Given the description of an element on the screen output the (x, y) to click on. 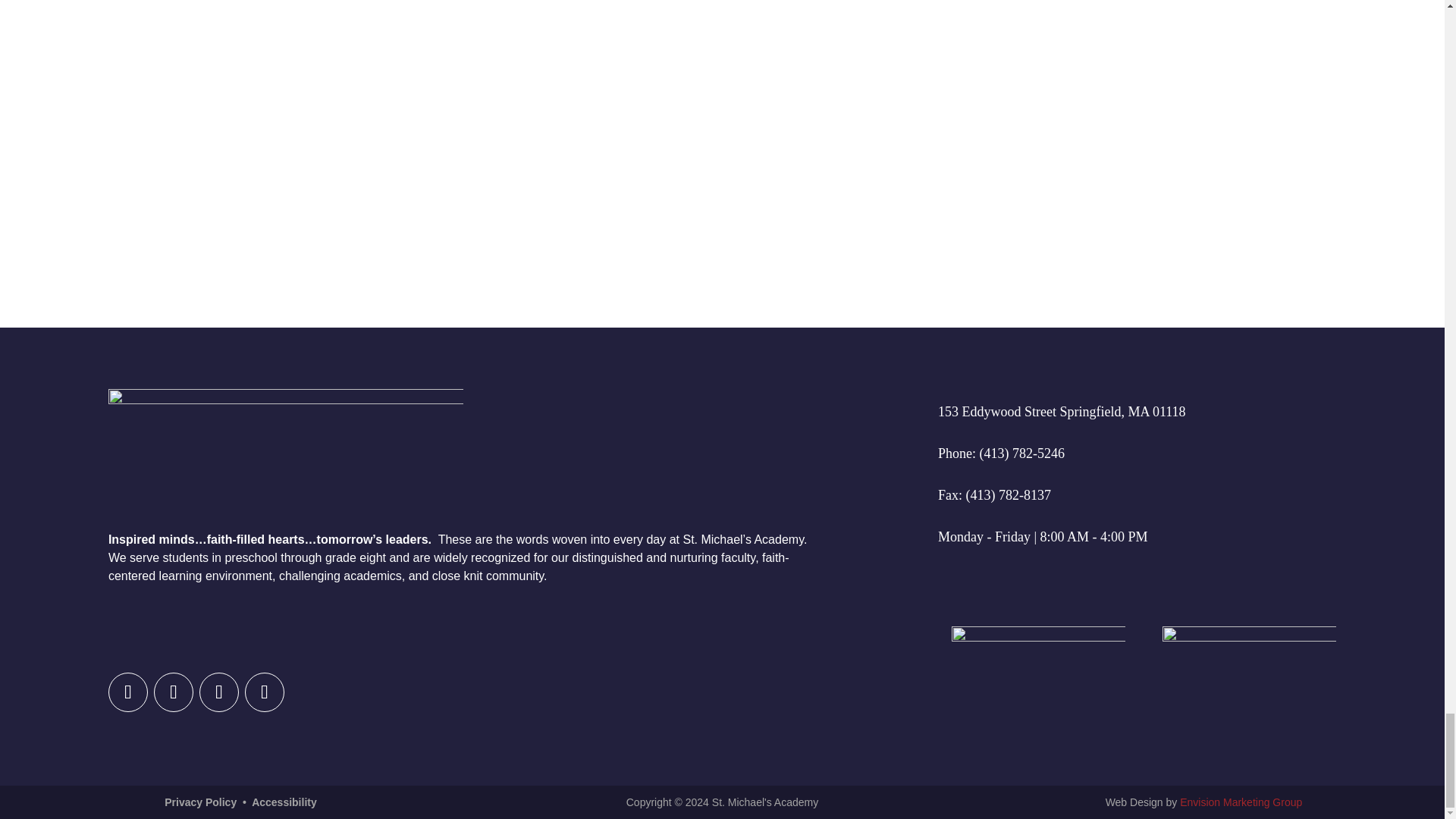
Follow on LinkedIn (263, 691)
NEASC-logo (1038, 695)
Follow on Instagram (173, 691)
Follow on Facebook (127, 691)
Follow on X (218, 691)
SMA-white-logo-2021 (285, 454)
Diocese-Springfield-MA (1248, 695)
